Given the description of an element on the screen output the (x, y) to click on. 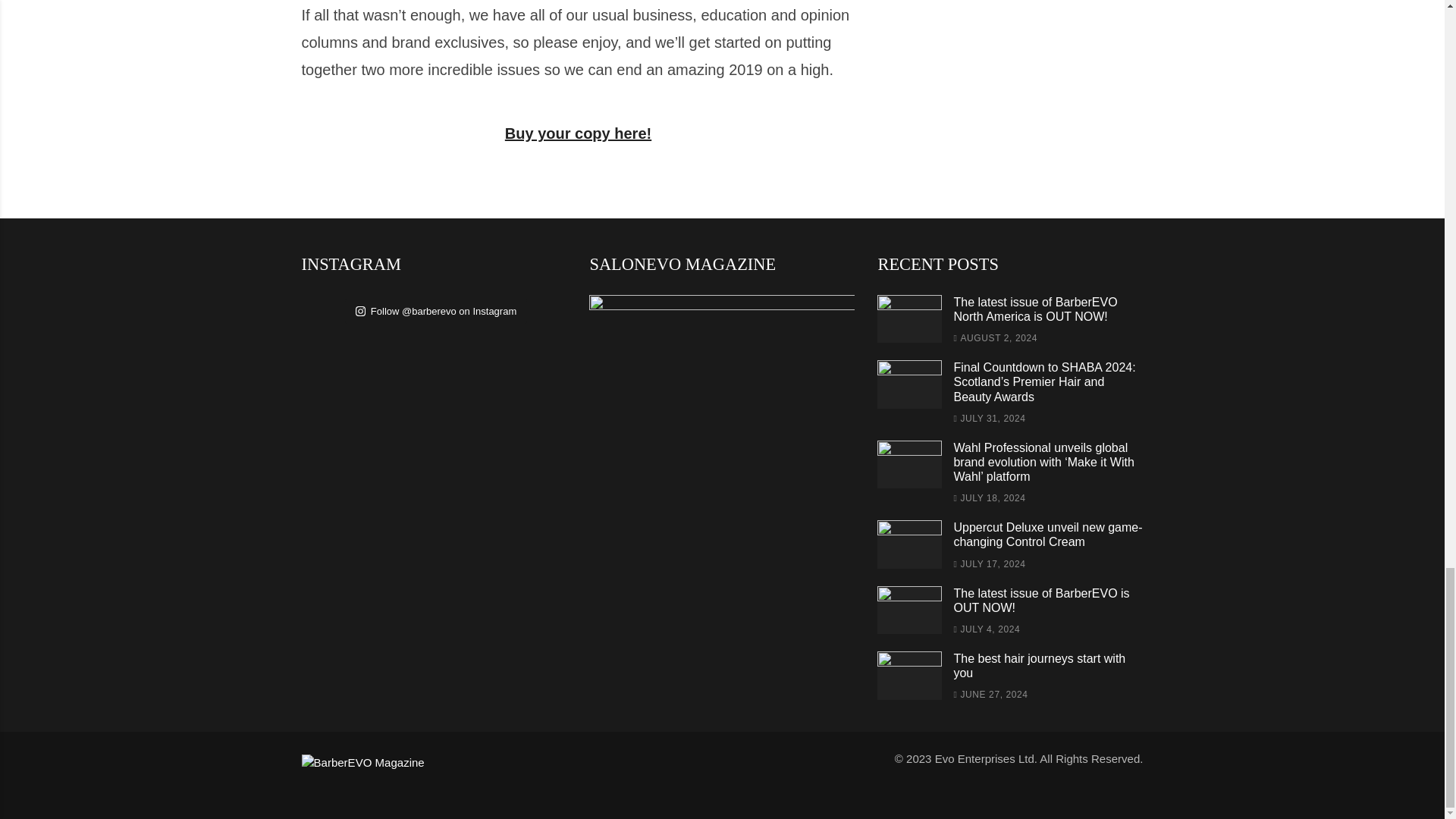
The latest issue of BarberEVO North America is OUT NOW! (1034, 308)
Buy your copy here! (577, 133)
The latest issue of BarberEVO North America is OUT NOW! (909, 318)
